Given the description of an element on the screen output the (x, y) to click on. 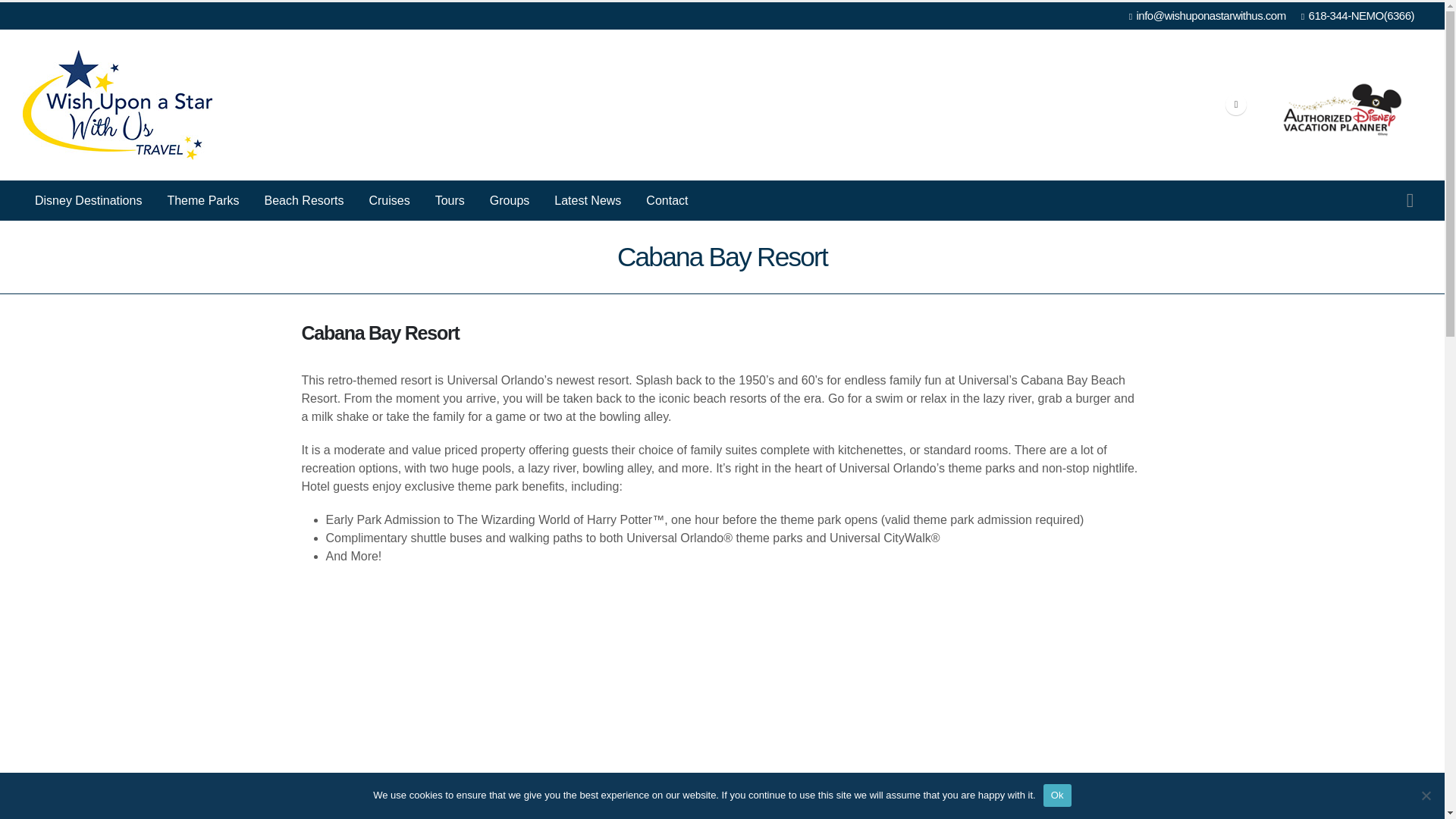
Universal's Cabana Bay Beach Resort: Overview (596, 717)
Facebook (1235, 104)
No (1425, 795)
